Given the description of an element on the screen output the (x, y) to click on. 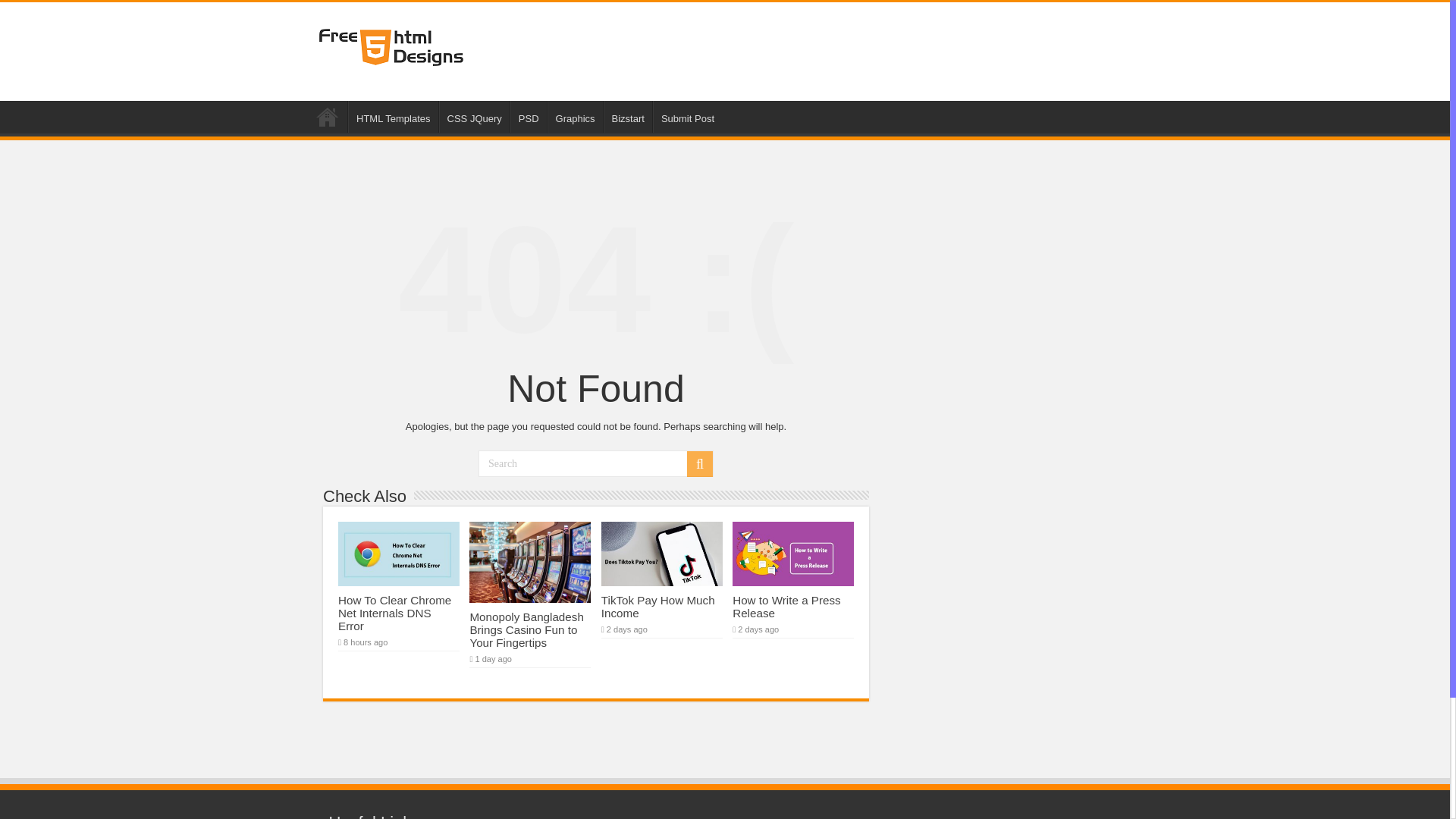
Submit Post (687, 116)
Advertisement (854, 51)
Home (327, 116)
TikTok Pay How Much Income (657, 606)
Search (700, 463)
How To Clear Chrome Net Internals DNS Error (394, 612)
How to Write a Press Release (786, 606)
CSS JQuery (474, 116)
PSD (529, 116)
free html design (390, 46)
